Given the description of an element on the screen output the (x, y) to click on. 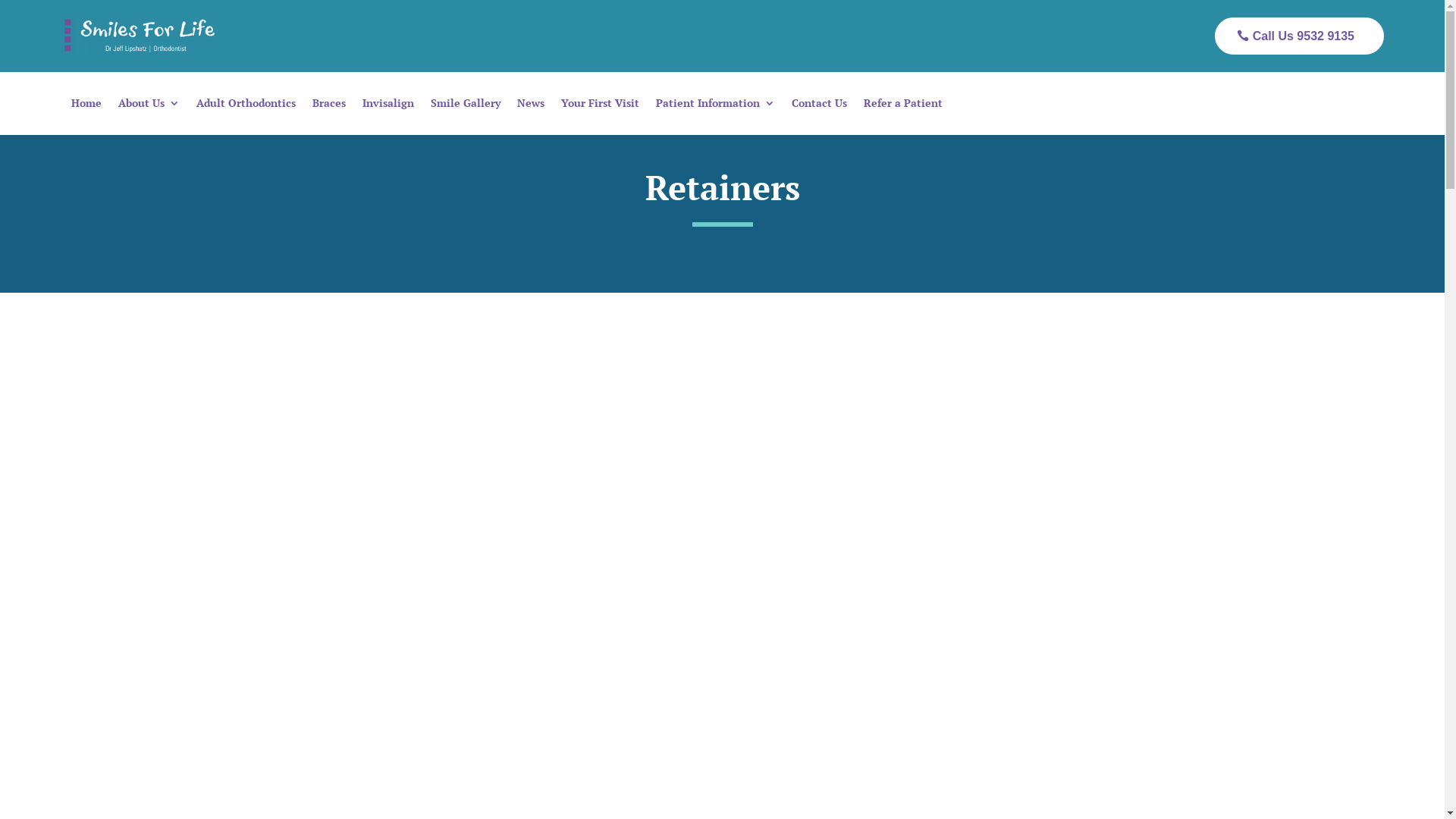
Smiles3 Element type: hover (139, 35)
Your First Visit Element type: text (600, 105)
About Us Element type: text (148, 105)
Braces Element type: text (328, 105)
Adult Orthodontics Element type: text (245, 105)
Patient Information Element type: text (715, 105)
News Element type: text (530, 105)
Home Element type: text (86, 105)
Refer a Patient Element type: text (902, 105)
Smile Gallery Element type: text (465, 105)
Retainer Element type: hover (721, 584)
Invisalign Element type: text (388, 105)
Call Us 9532 9135 Element type: text (1298, 35)
Contact Us Element type: text (819, 105)
